Given the description of an element on the screen output the (x, y) to click on. 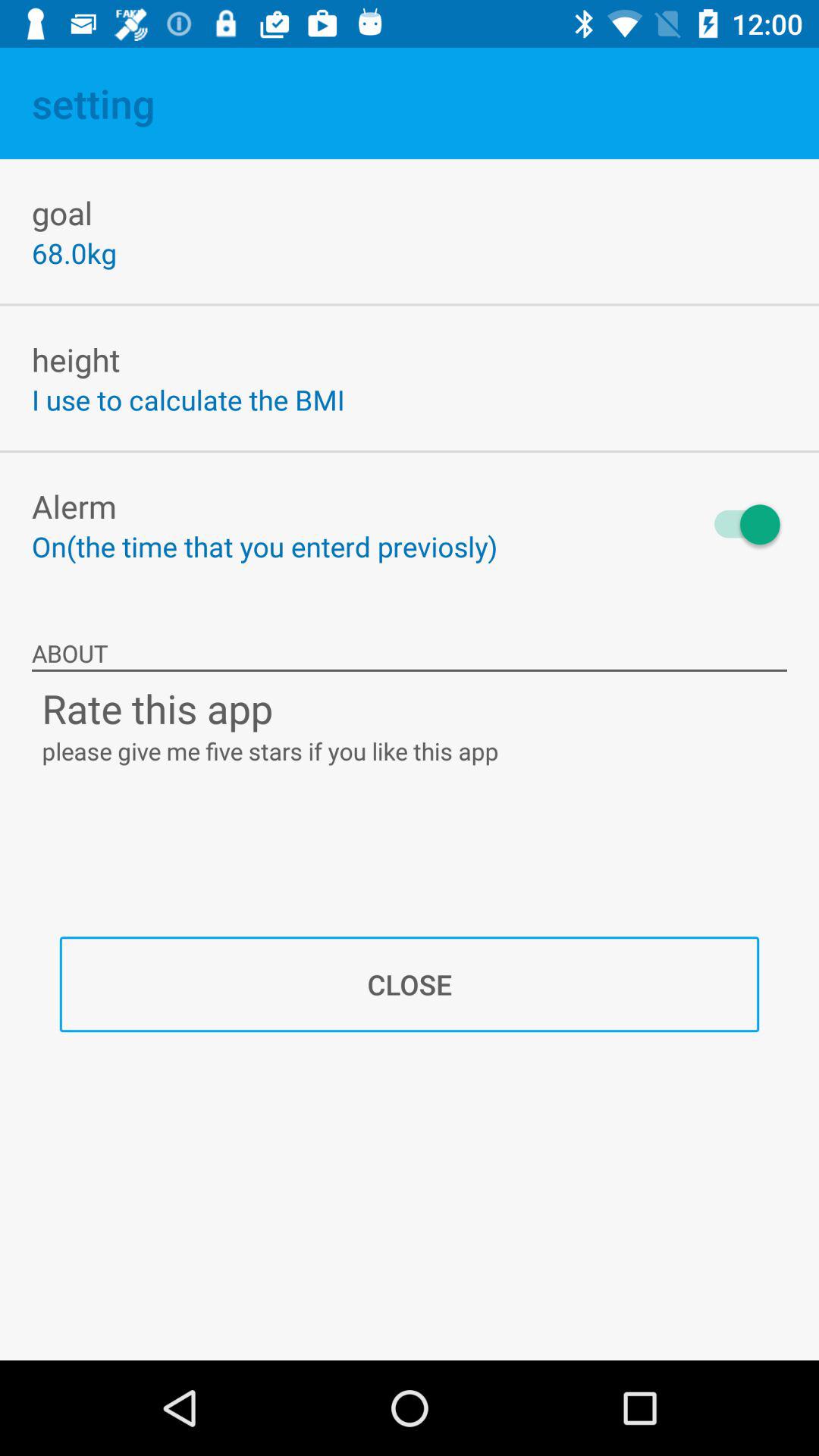
choose the alerm icon (73, 505)
